Given the description of an element on the screen output the (x, y) to click on. 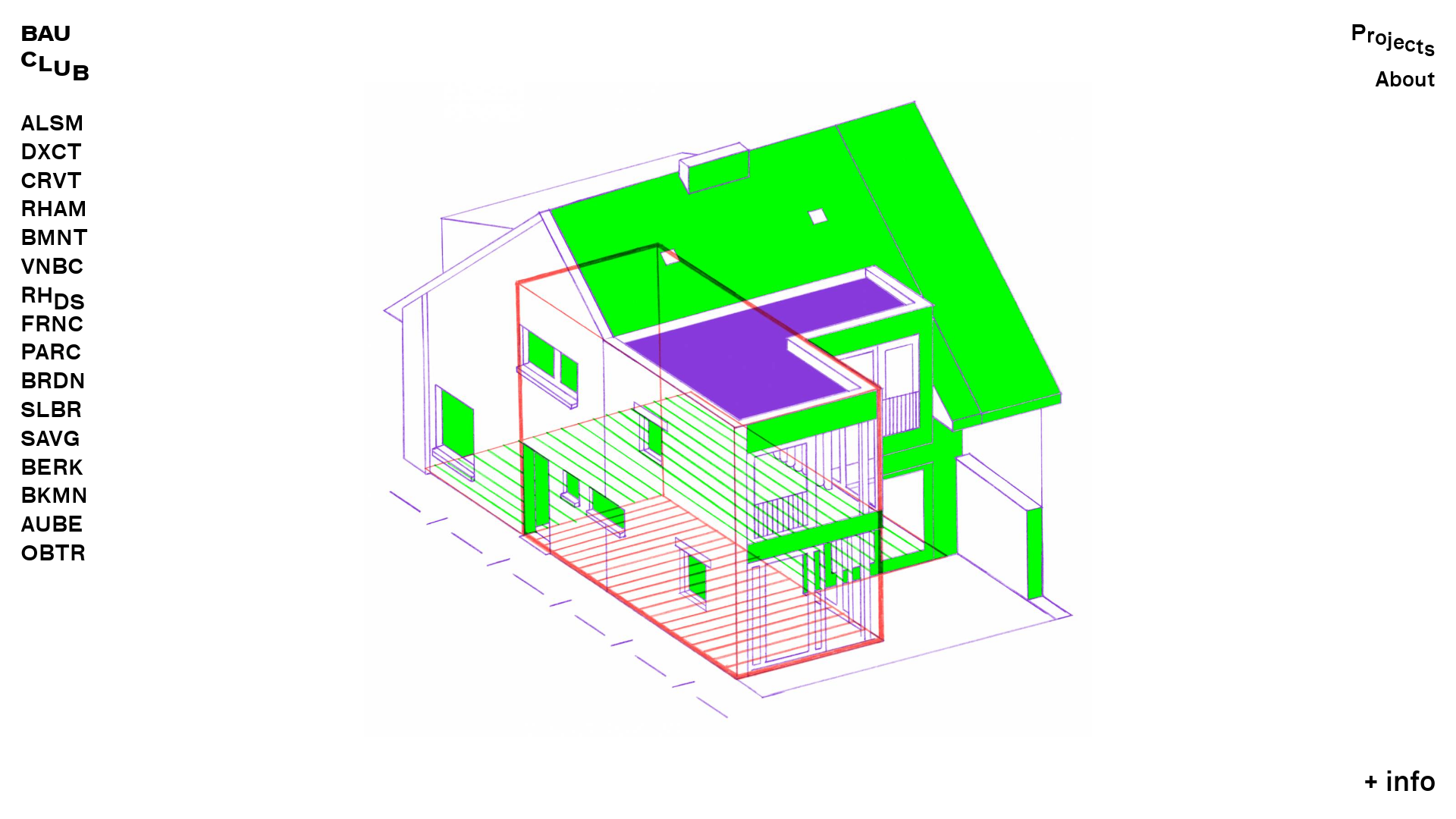
VNBC Element type: text (51, 266)
AUBE Element type: text (51, 523)
FRNC Element type: text (51, 323)
+ info Element type: text (1399, 781)
R
H
D
S Element type: text (53, 295)
CRVT Element type: text (50, 180)
BAU
C
L
U
B Element type: text (55, 46)
BRDN Element type: text (52, 380)
OBTR Element type: text (52, 552)
BERK Element type: text (51, 467)
RHAM Element type: text (53, 208)
DXCT Element type: text (50, 151)
BKMN Element type: text (53, 495)
ALSM Element type: text (52, 122)
SAVG Element type: text (50, 438)
P
r
o
j
e
c
t
s Element type: text (1392, 33)
SLBR Element type: text (50, 409)
About Element type: text (1392, 79)
BMNT Element type: text (53, 237)
PARC Element type: text (50, 351)
